Given the description of an element on the screen output the (x, y) to click on. 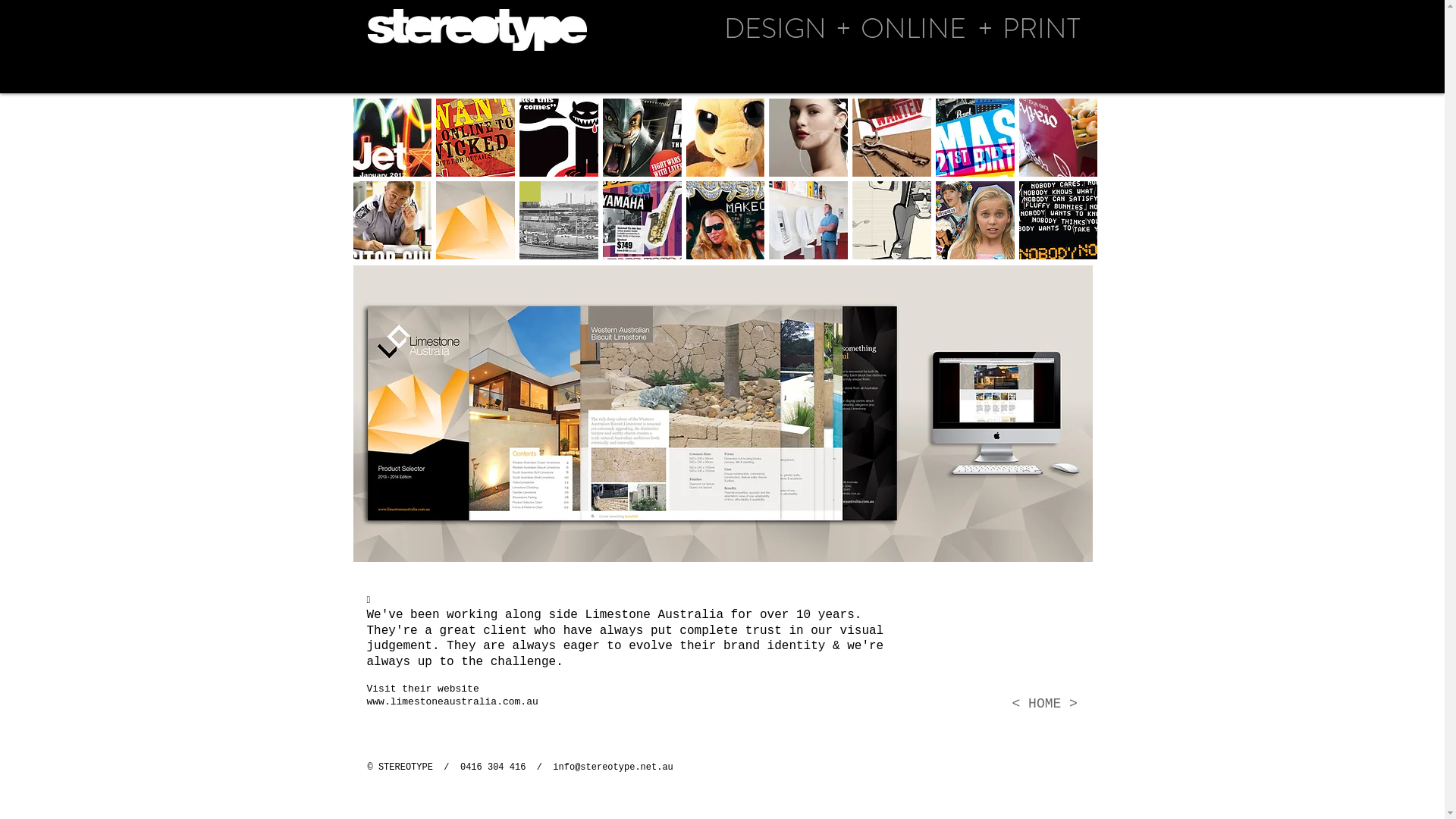
< HOME > Element type: text (1044, 704)
www.limestoneaustralia.com.au Element type: text (452, 701)
info@stereotype.net.au Element type: text (612, 767)
Limestone Australia - Brochure Element type: hover (722, 413)
STEREOTYPE logo.png Element type: hover (476, 29)
